Given the description of an element on the screen output the (x, y) to click on. 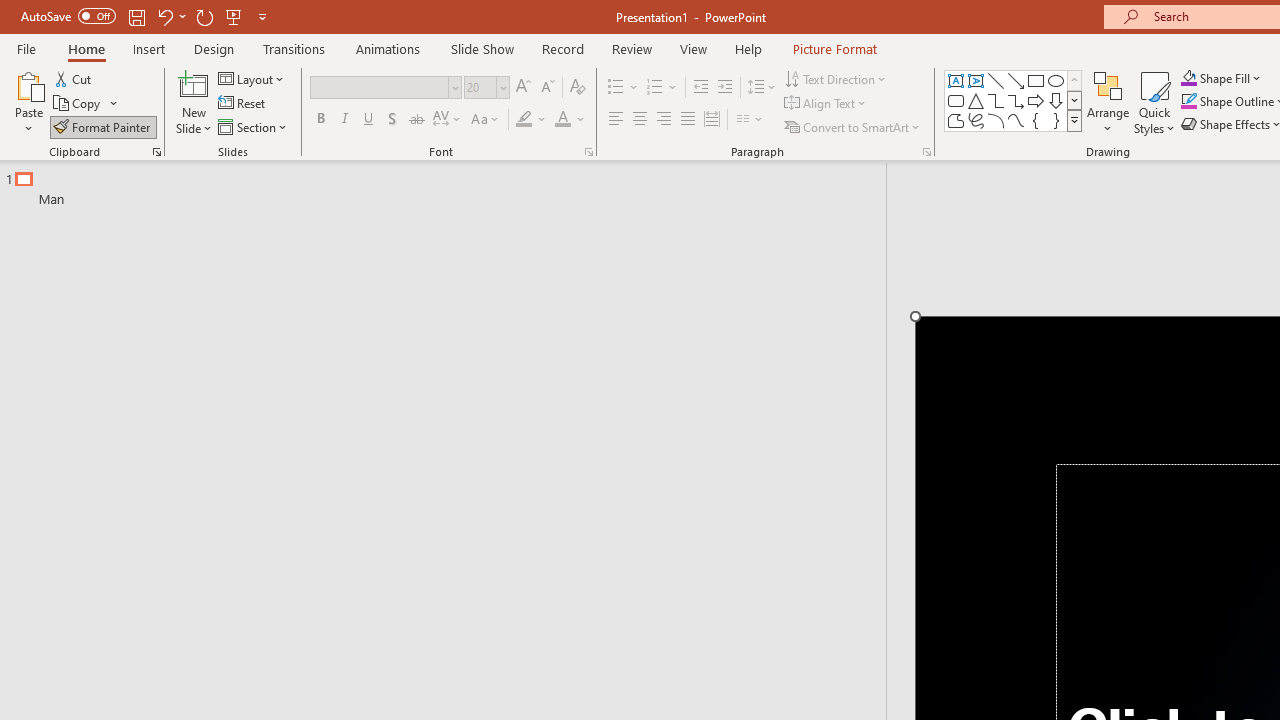
Layout (252, 78)
Text Direction (836, 78)
Connector: Elbow (995, 100)
Reset (243, 103)
Format Painter (103, 126)
Bullets (616, 87)
Office Clipboard... (156, 151)
Paragraph... (926, 151)
Font (385, 87)
Isosceles Triangle (975, 100)
